Given the description of an element on the screen output the (x, y) to click on. 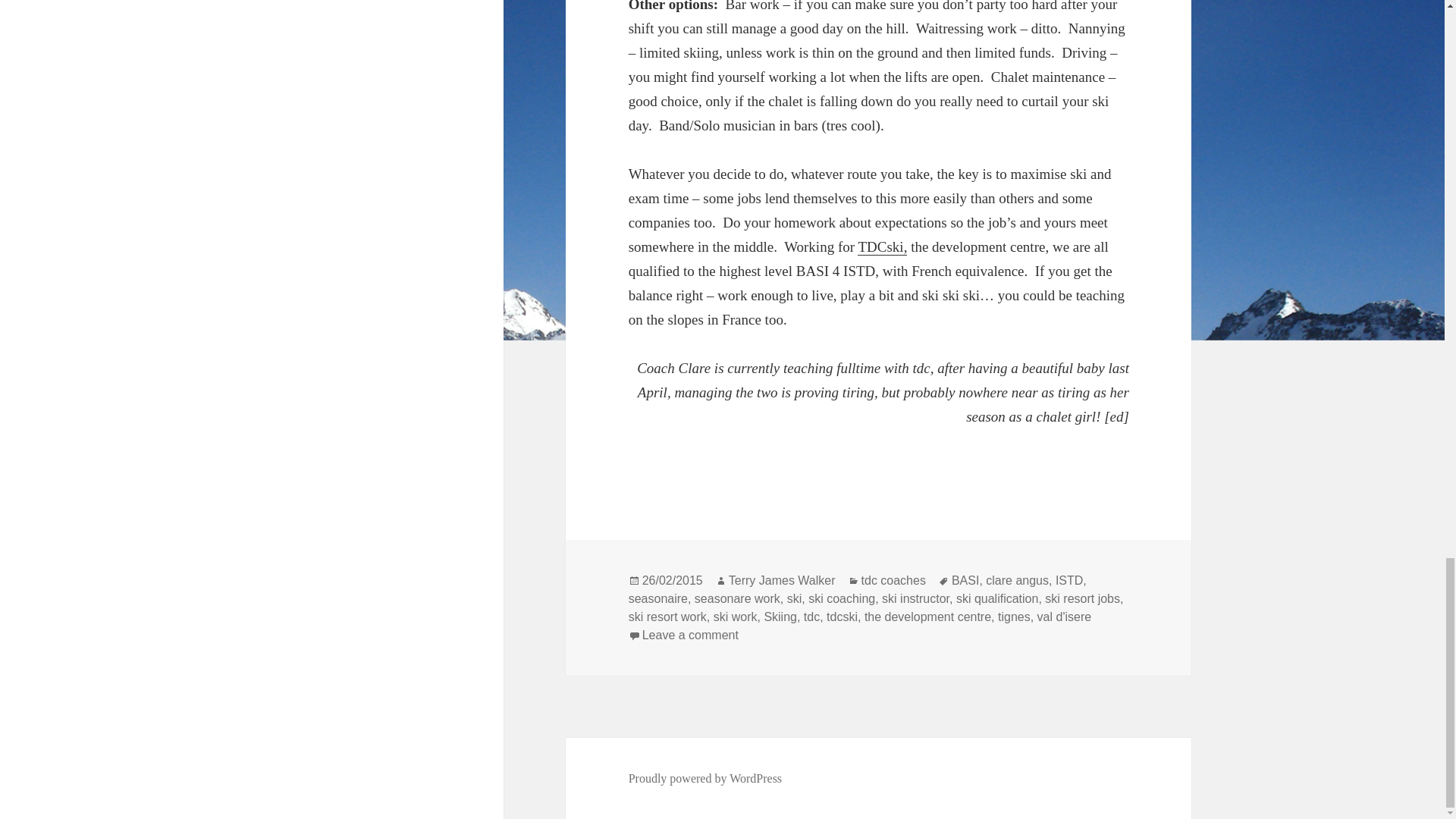
ISTD (1069, 581)
Terry James Walker (782, 581)
TDCski, (882, 247)
seasonaire (657, 599)
BASI (965, 581)
clare angus (1016, 581)
tdc coaches (893, 581)
the development centre TDC (882, 247)
